Given the description of an element on the screen output the (x, y) to click on. 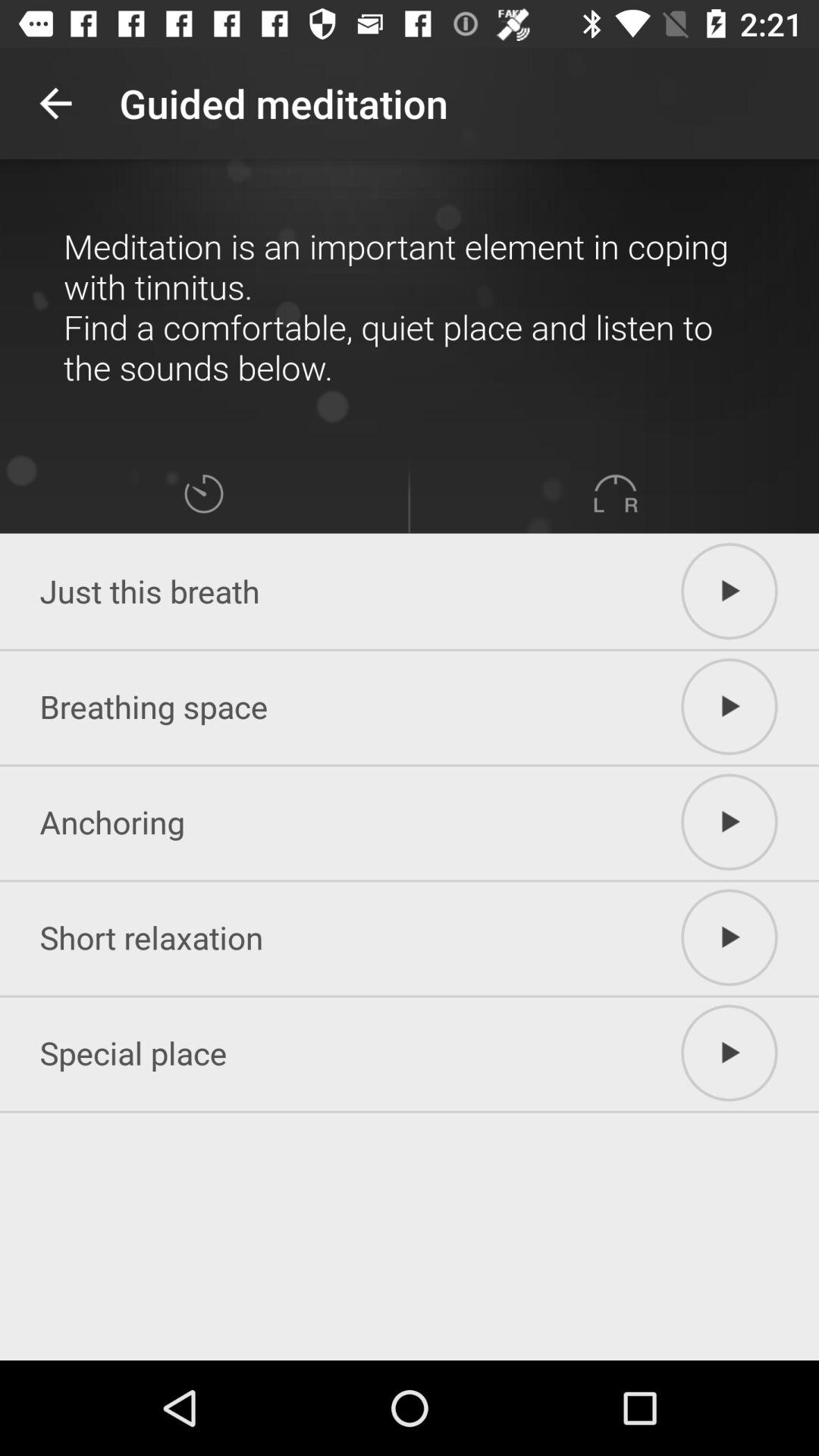
open the icon below meditation is an icon (615, 493)
